Given the description of an element on the screen output the (x, y) to click on. 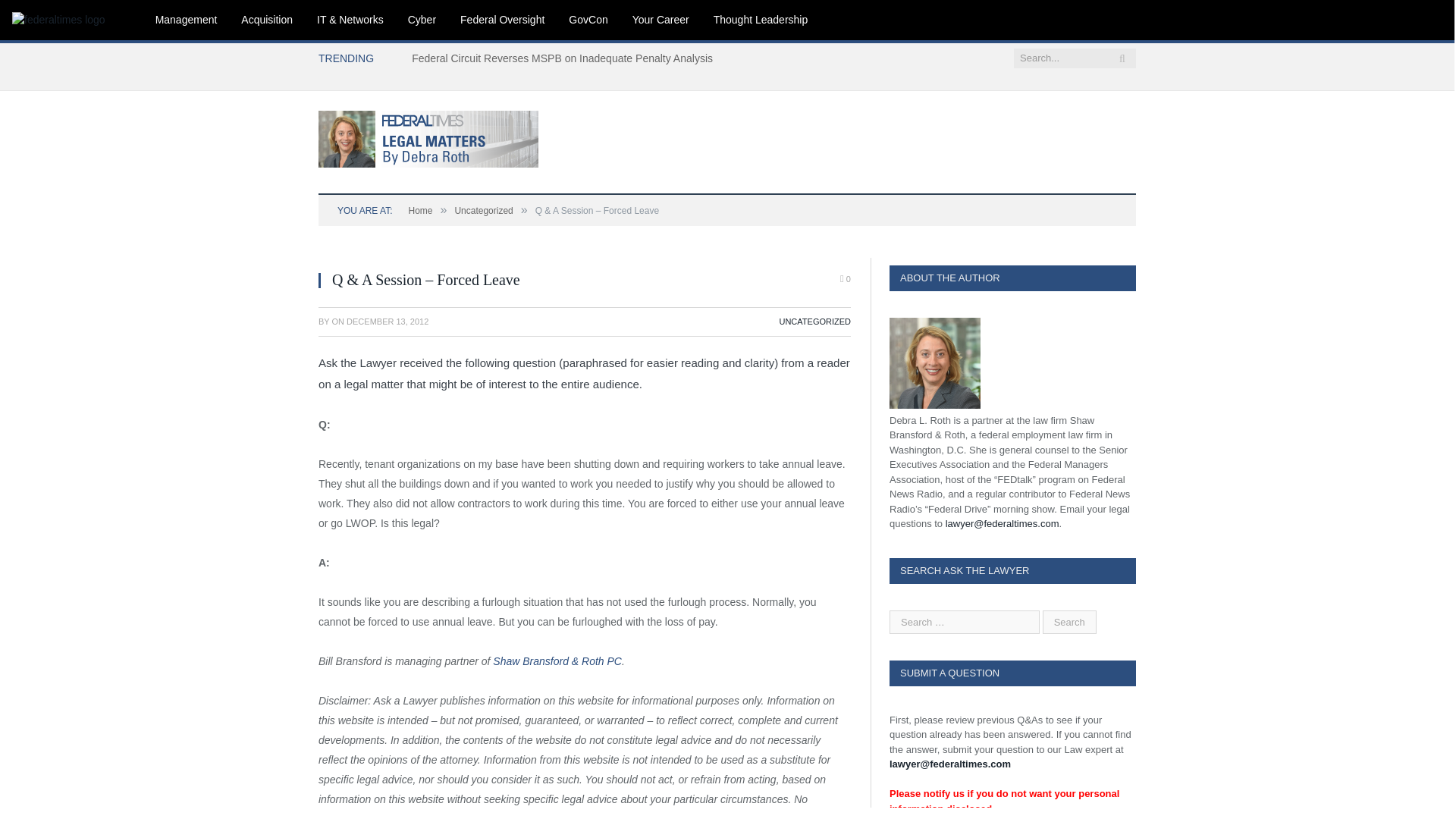
Federal Circuit Reverses MSPB on Inadequate Penalty Analysis (566, 58)
Your Career (660, 19)
Management (186, 19)
Ask The Lawyer (428, 136)
Search (1069, 621)
UNCATEGORIZED (814, 320)
Acquisition (266, 19)
Search (1069, 621)
Cyber (422, 19)
2012-12-13 (387, 320)
Home (419, 210)
Federal Oversight (502, 19)
Thought Leadership (761, 19)
Uncategorized (483, 210)
Federal Circuit Reverses MSPB on Inadequate Penalty Analysis (566, 58)
